Given the description of an element on the screen output the (x, y) to click on. 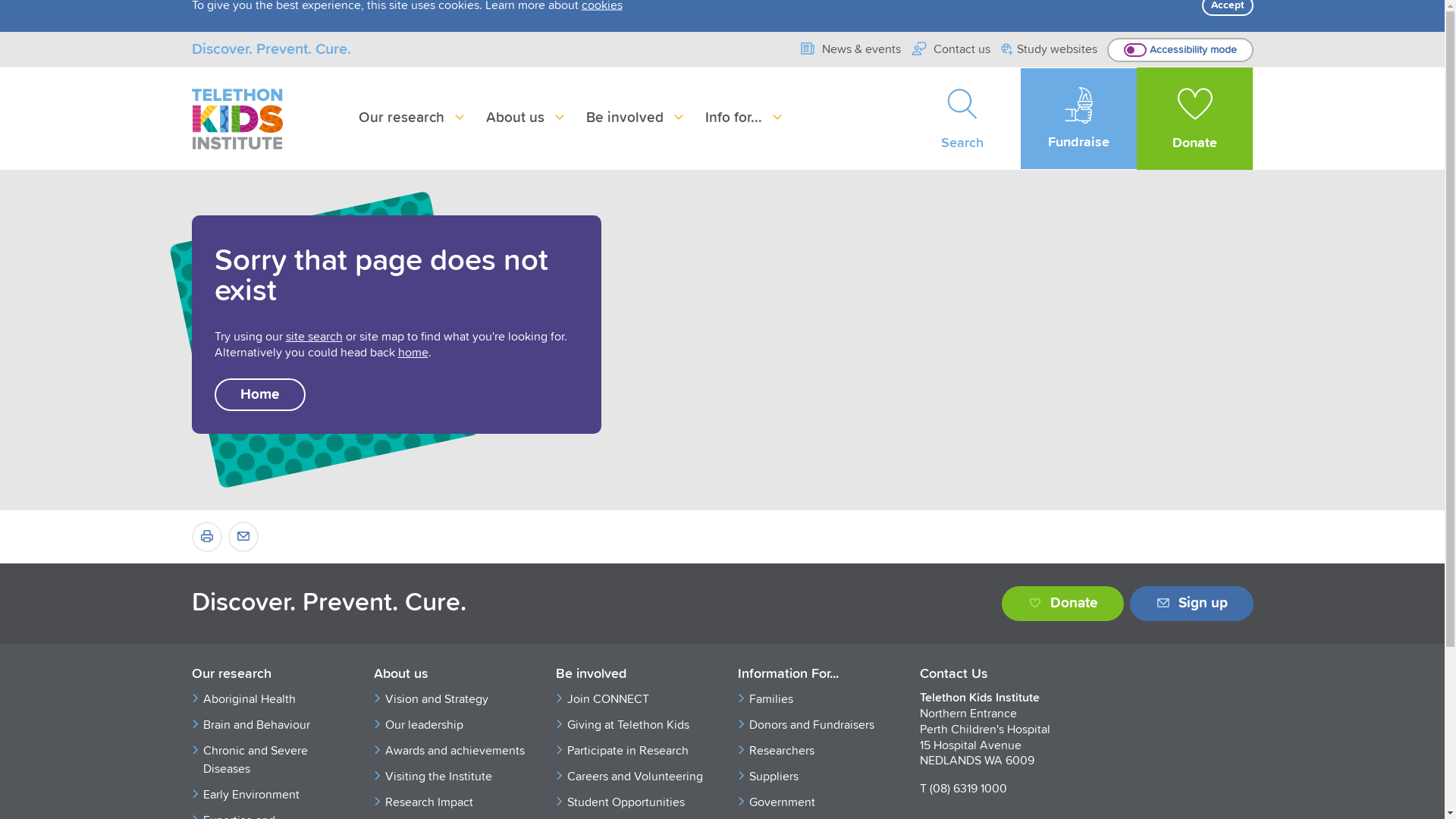
Donors and Fundraisers Element type: text (819, 724)
Donate Element type: text (1194, 118)
Government Element type: text (819, 802)
Email Us Element type: hover (242, 536)
Careers and Volunteering Element type: text (637, 776)
Participate in Research Element type: text (637, 750)
Families Element type: text (819, 699)
Giving at Telethon Kids Element type: text (637, 724)
Suppliers Element type: text (819, 776)
Information For... Element type: text (812, 674)
site search Element type: text (313, 336)
Accessibility mode Element type: text (1180, 49)
Study websites Element type: text (1049, 50)
Info for... Element type: text (744, 117)
Sign up Element type: text (1191, 603)
Researchers Element type: text (819, 750)
Home Element type: text (258, 394)
Print Element type: hover (206, 536)
Fundraise Element type: text (1078, 118)
Aboriginal Health Element type: text (273, 699)
Brain and Behaviour Element type: text (273, 724)
Visiting the Institute Element type: text (455, 776)
Be involved Element type: text (630, 674)
Search Element type: text (962, 118)
Vision and Strategy Element type: text (455, 699)
Student Opportunities Element type: text (637, 802)
Awards and achievements Element type: text (455, 750)
Be involved Element type: text (635, 117)
Contact Us Element type: text (994, 674)
Contact us Element type: text (950, 49)
News & events Element type: text (849, 49)
About us Element type: text (525, 117)
About us Element type: text (448, 674)
Donate Element type: text (1062, 603)
Our research Element type: text (411, 117)
Early Environment Element type: text (273, 794)
Chronic and Severe Diseases Element type: text (273, 759)
home Element type: text (412, 352)
Research Impact Element type: text (455, 802)
Our research Element type: text (266, 674)
Join CONNECT Element type: text (637, 699)
Our leadership Element type: text (455, 724)
